Given the description of an element on the screen output the (x, y) to click on. 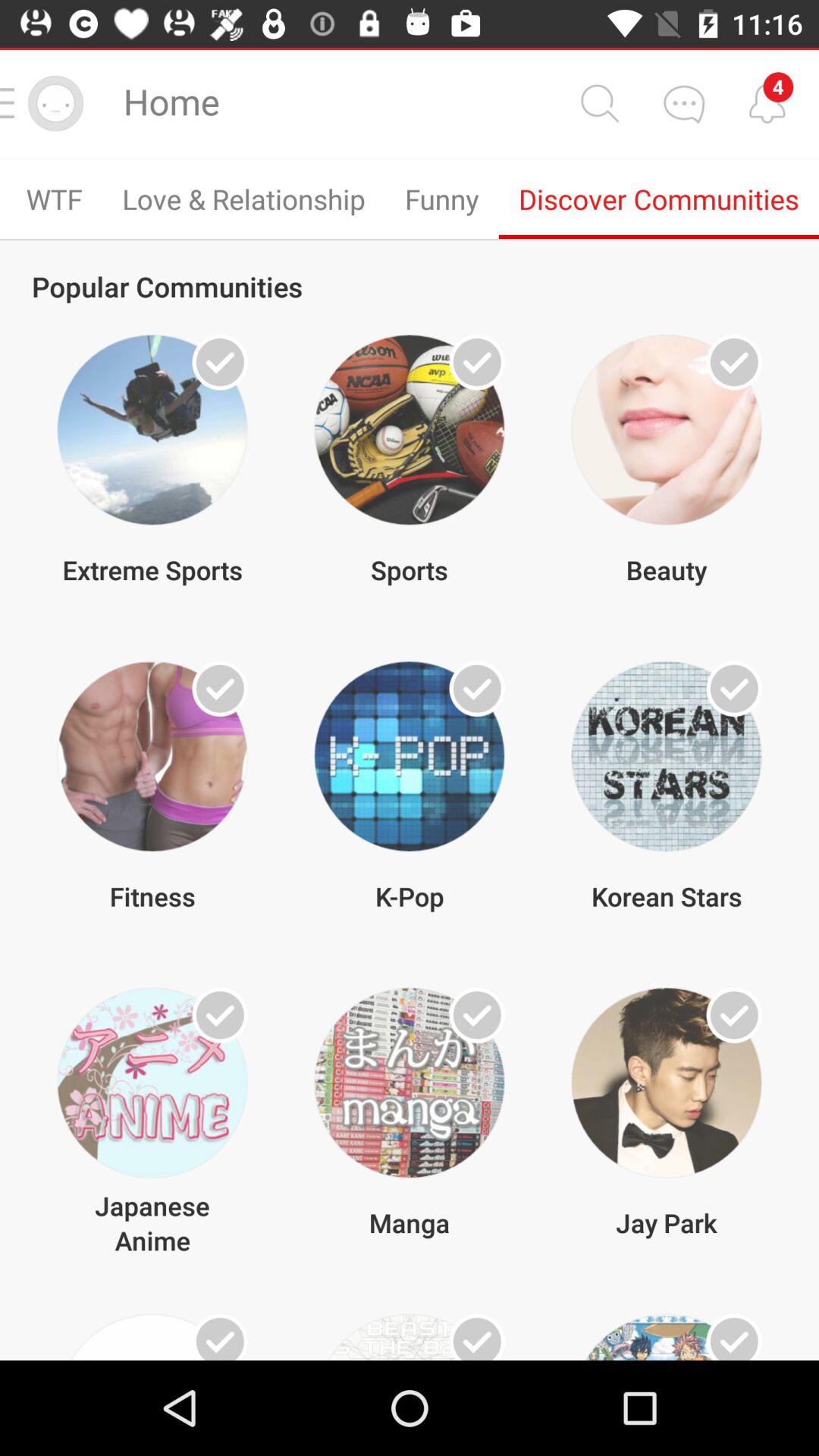
search (599, 103)
